Given the description of an element on the screen output the (x, y) to click on. 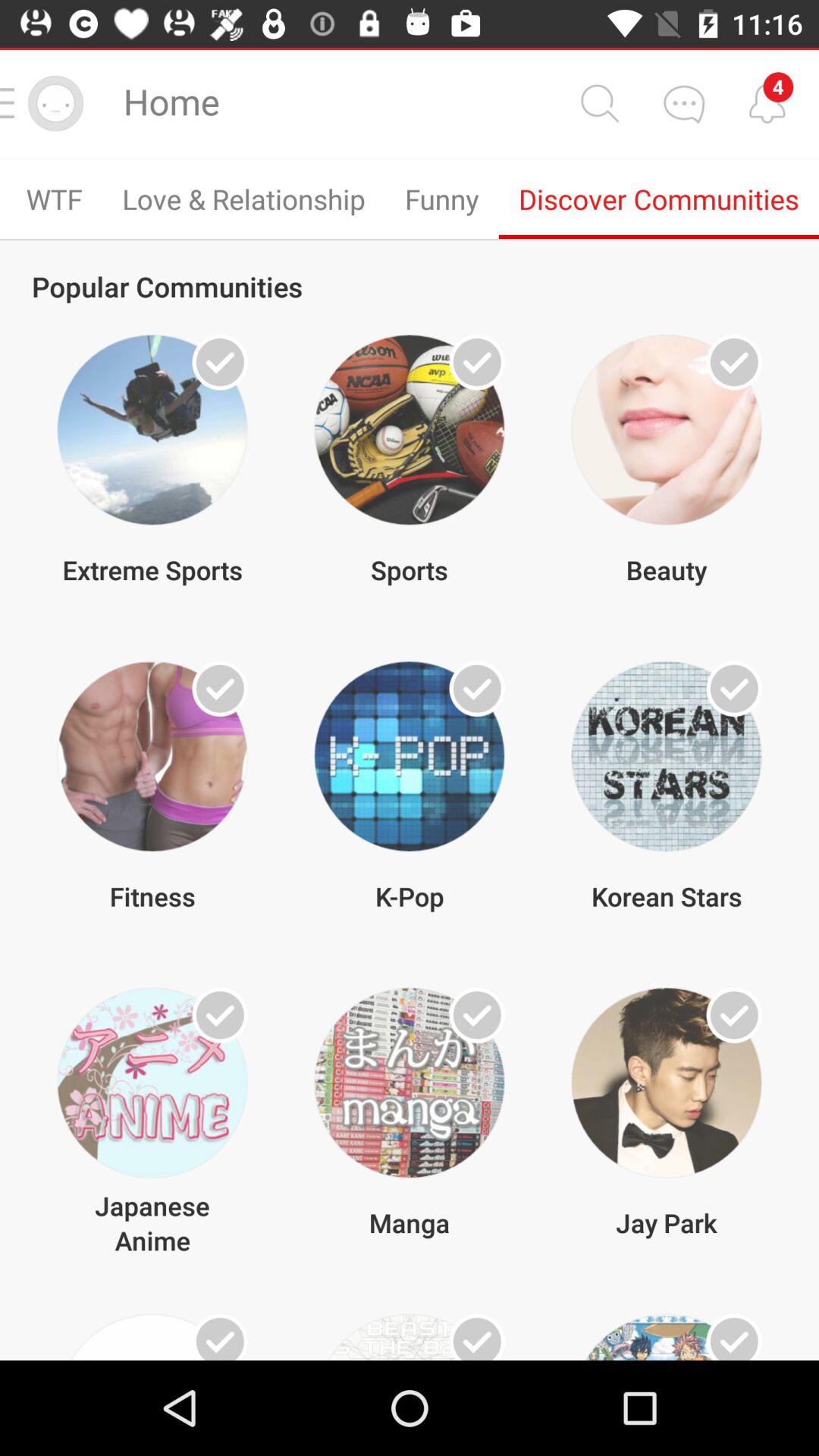
search (599, 103)
